Given the description of an element on the screen output the (x, y) to click on. 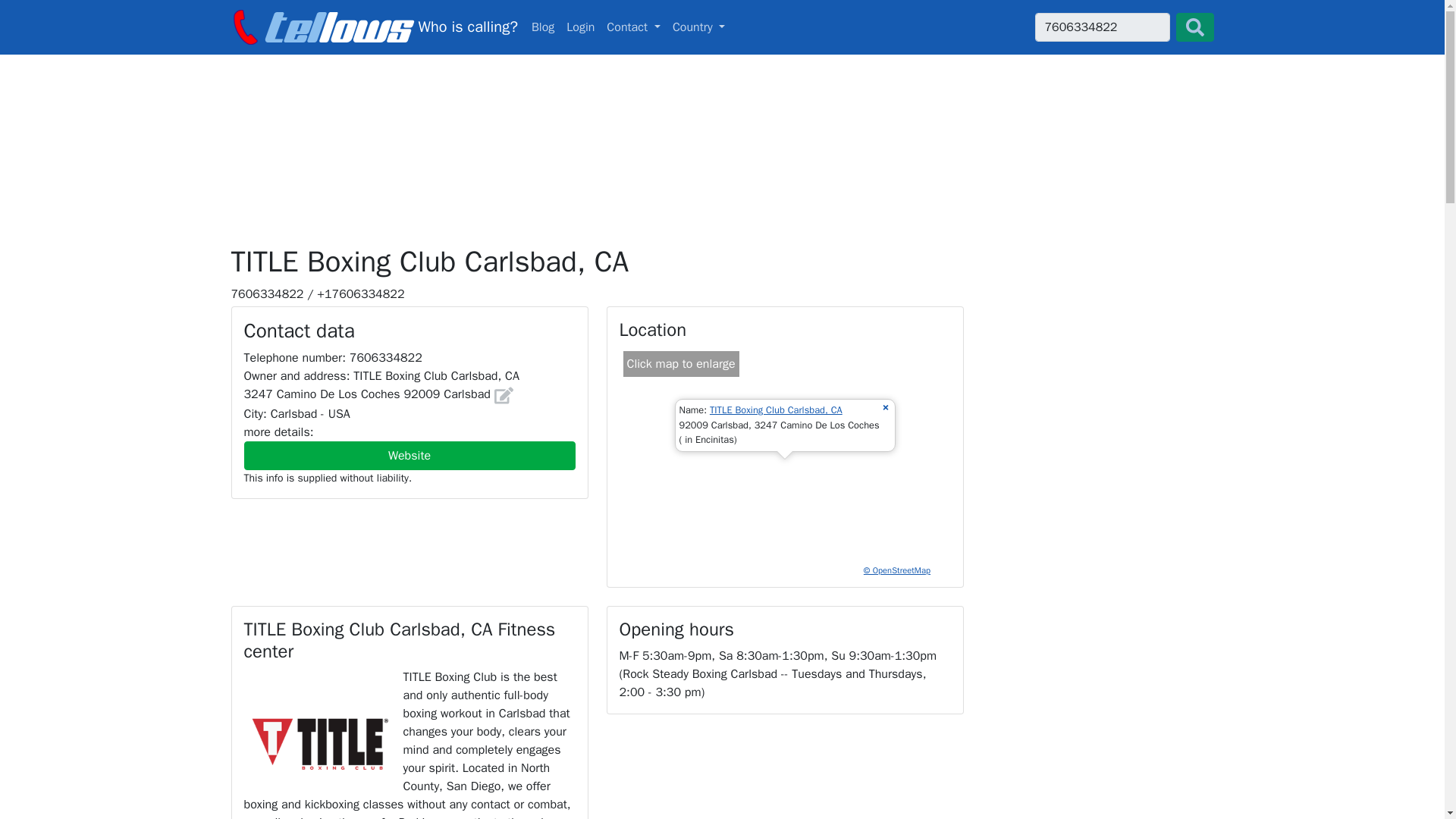
Contact (632, 27)
TITLE Boxing Club Carlsbad, CA (776, 410)
Blog (542, 27)
Who is calling? (373, 26)
7606334822 (1101, 27)
Website (409, 455)
tellows - the community for calls, phone spam and complaints (722, 26)
Login (373, 26)
Blog (579, 27)
Country (542, 27)
